Given the description of an element on the screen output the (x, y) to click on. 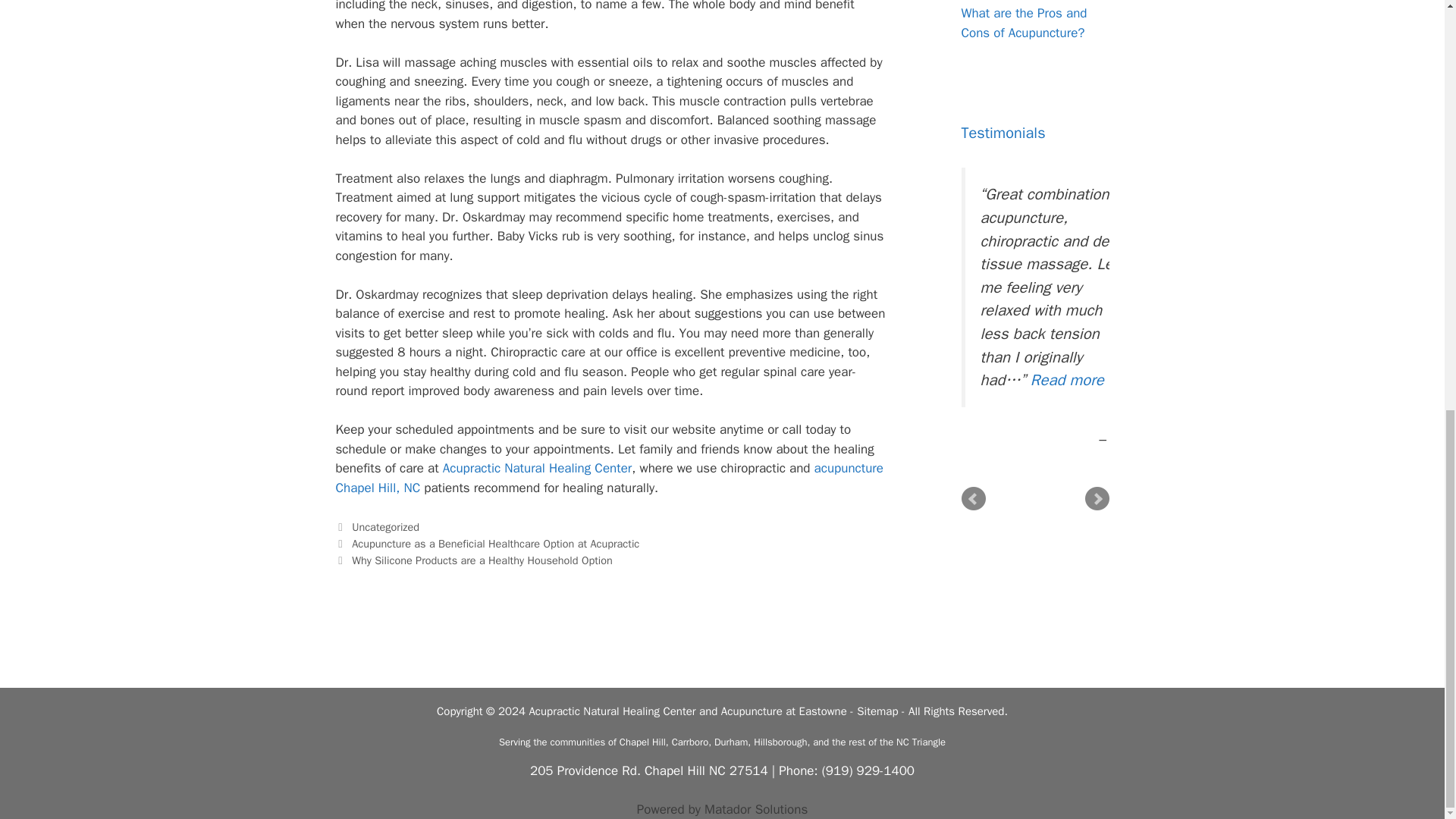
Acupractic Natural Healing Center (536, 467)
Acupuncture as a Beneficial Healthcare Option at Acupractic (495, 543)
Complete testimonial by Cory O (1066, 379)
Uncategorized (385, 526)
acupuncture Chapel Hill, NC (608, 478)
